Given the description of an element on the screen output the (x, y) to click on. 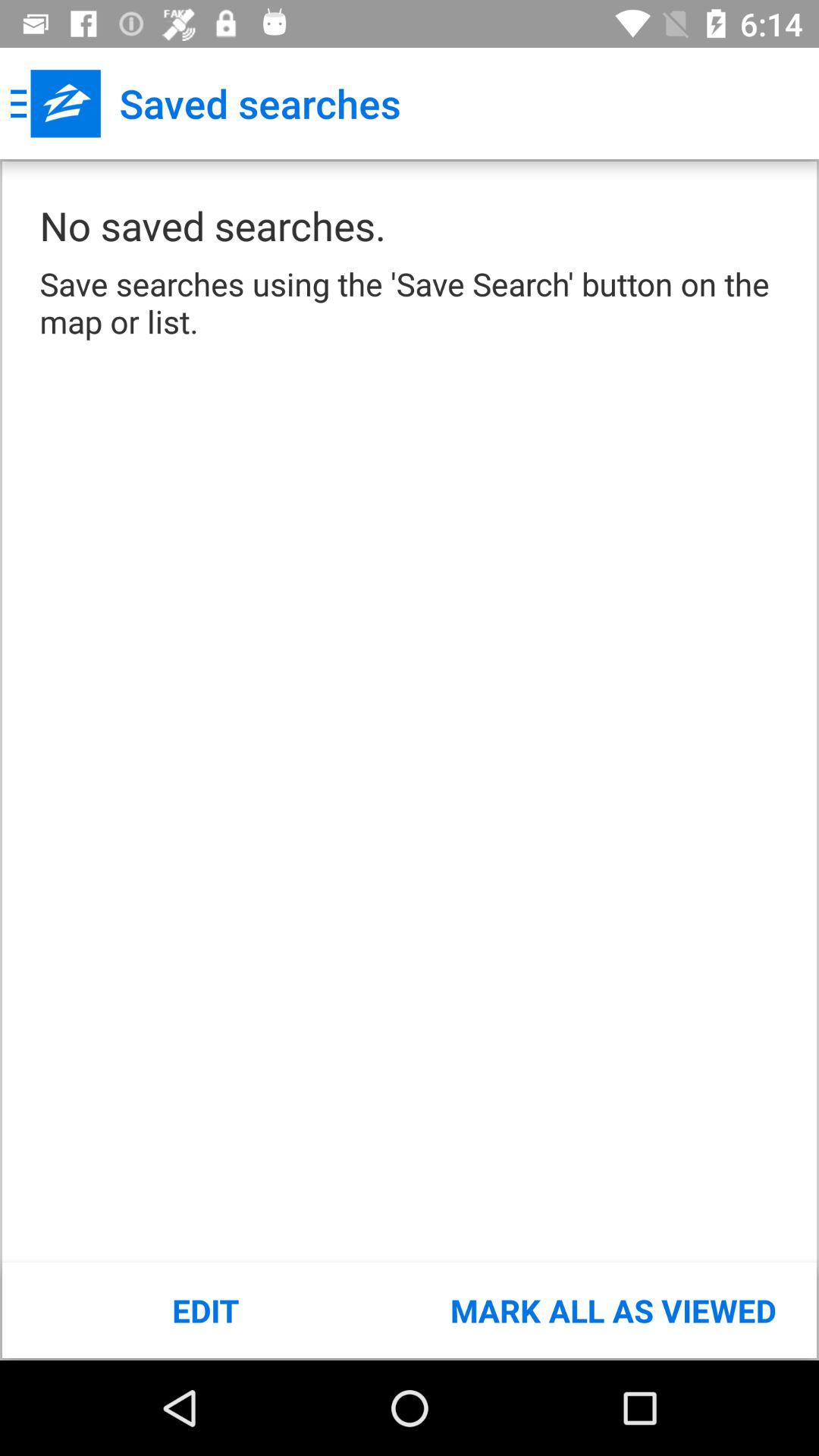
click the icon to the right of edit item (612, 1310)
